Given the description of an element on the screen output the (x, y) to click on. 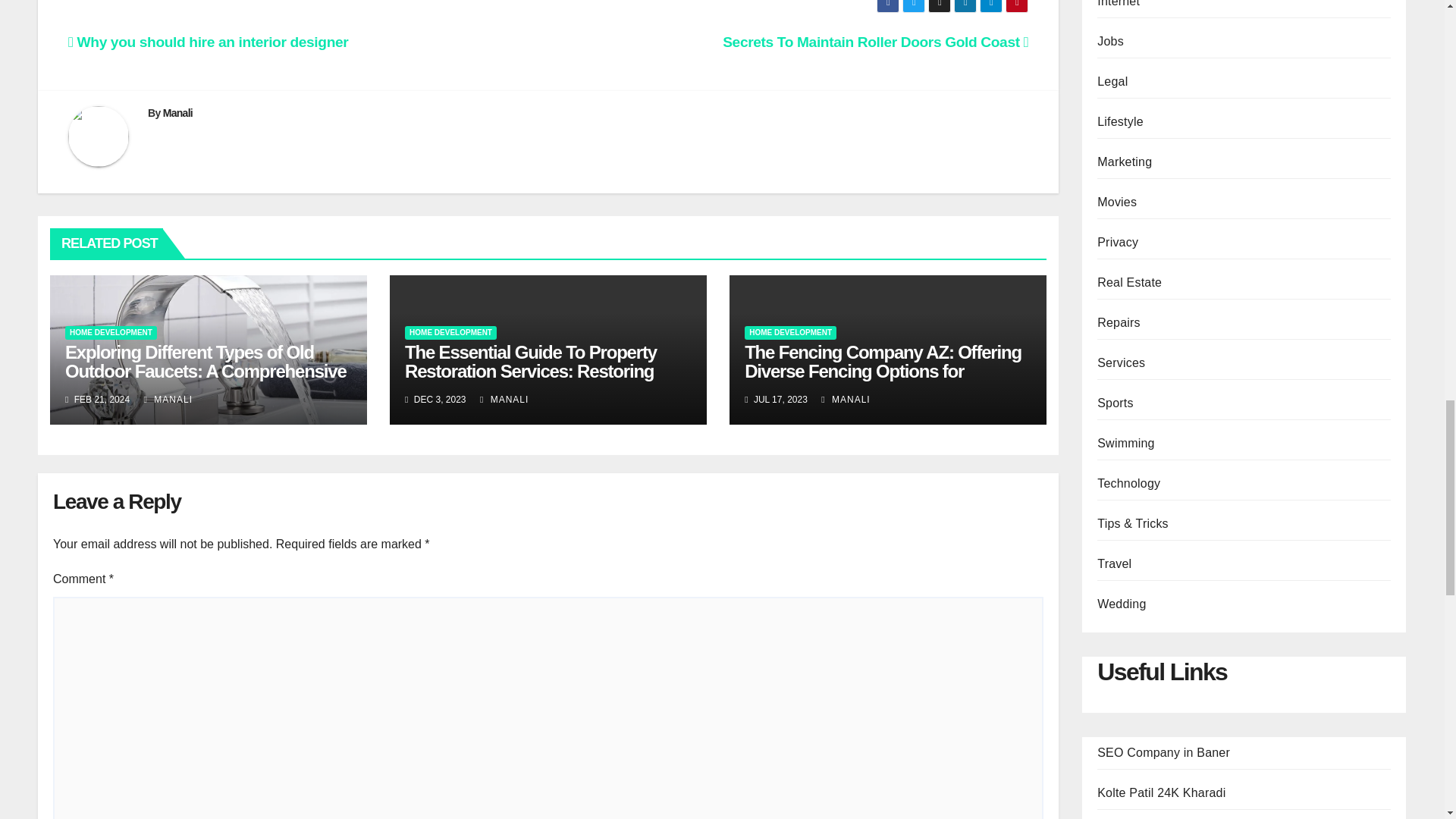
HOME DEVELOPMENT (450, 332)
Why you should hire an interior designer (207, 41)
MANALI (168, 398)
MANALI (504, 398)
Secrets To Maintain Roller Doors Gold Coast (874, 41)
Manali (177, 112)
HOME DEVELOPMENT (111, 332)
MANALI (845, 398)
HOME DEVELOPMENT (789, 332)
